Given the description of an element on the screen output the (x, y) to click on. 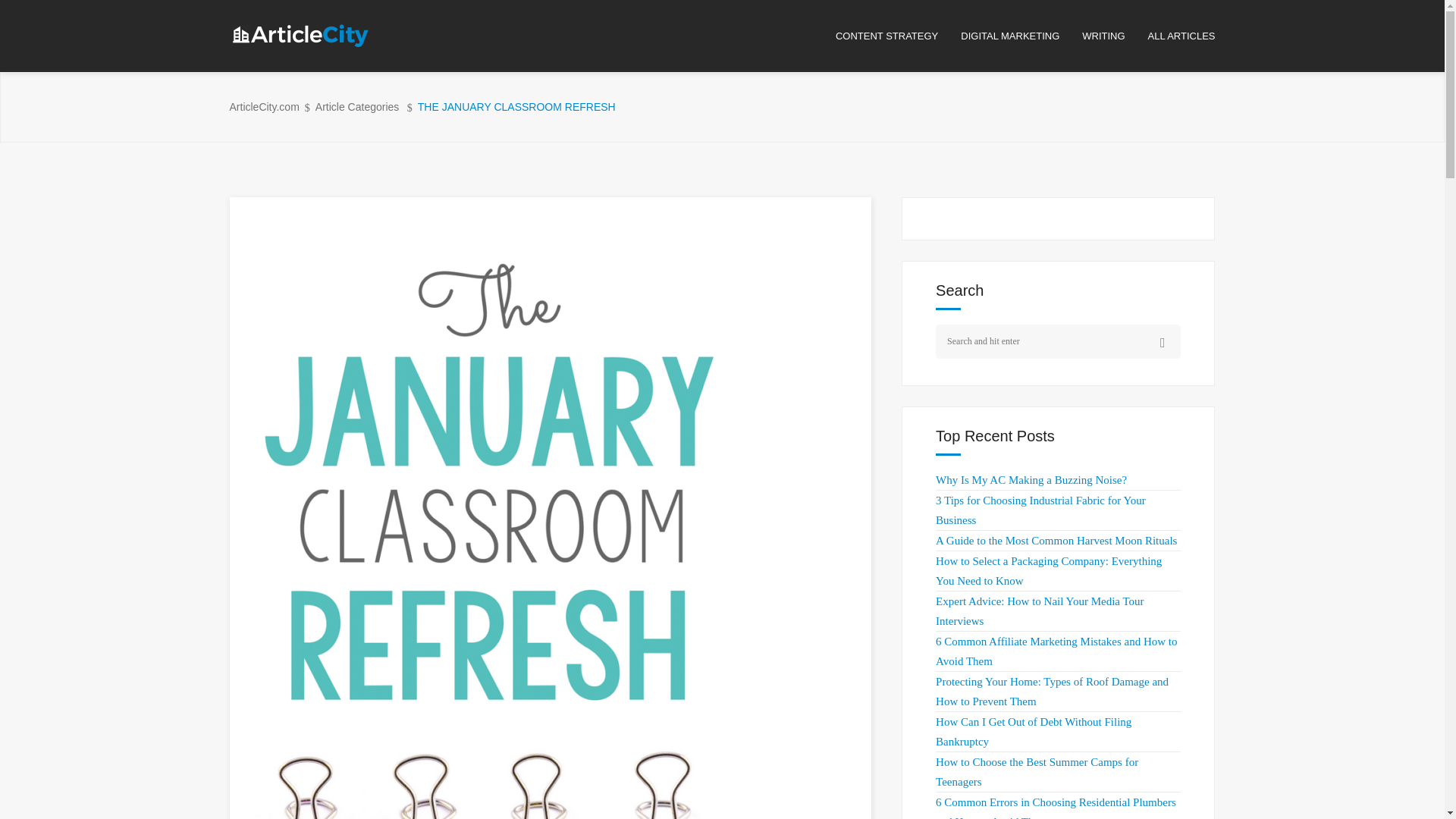
ALL ARTICLES (1181, 36)
How to Choose the Best Summer Camps for Teenagers (1037, 771)
Expert Advice: How to Nail Your Media Tour Interviews (1039, 611)
A Guide to the Most Common Harvest Moon Rituals (1056, 540)
Why Is My AC Making a Buzzing Noise? (1031, 480)
CONTENT STRATEGY (897, 36)
ArticleCity.com (263, 107)
WRITING (1114, 36)
